Given the description of an element on the screen output the (x, y) to click on. 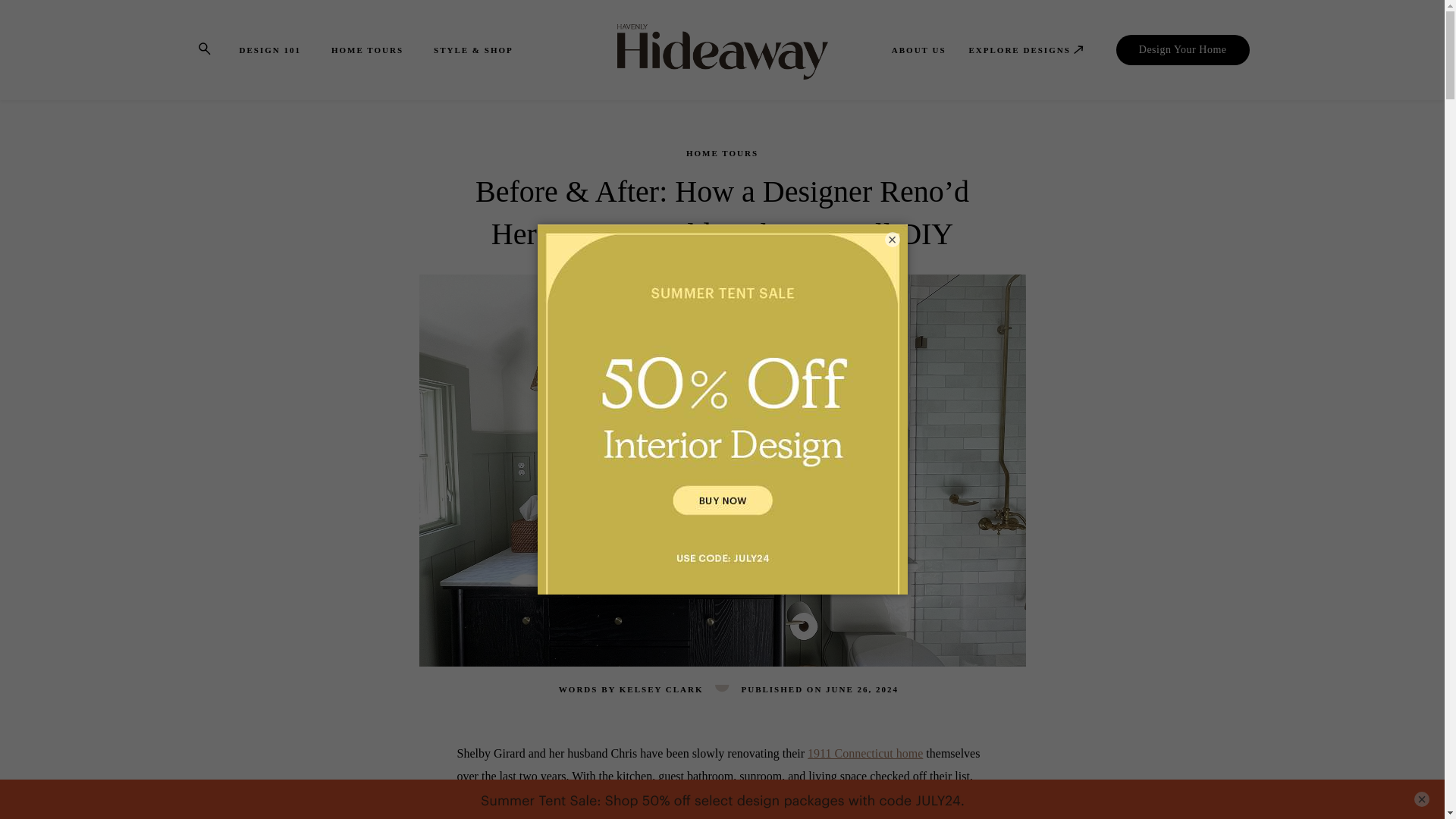
DESIGN 101 (270, 49)
1911 Connecticut home (865, 753)
ABOUT US (918, 49)
HOME TOURS (367, 49)
HOME TOURS (721, 151)
Design Your Home (1182, 50)
EXPLORE DESIGNS (1027, 49)
